Given the description of an element on the screen output the (x, y) to click on. 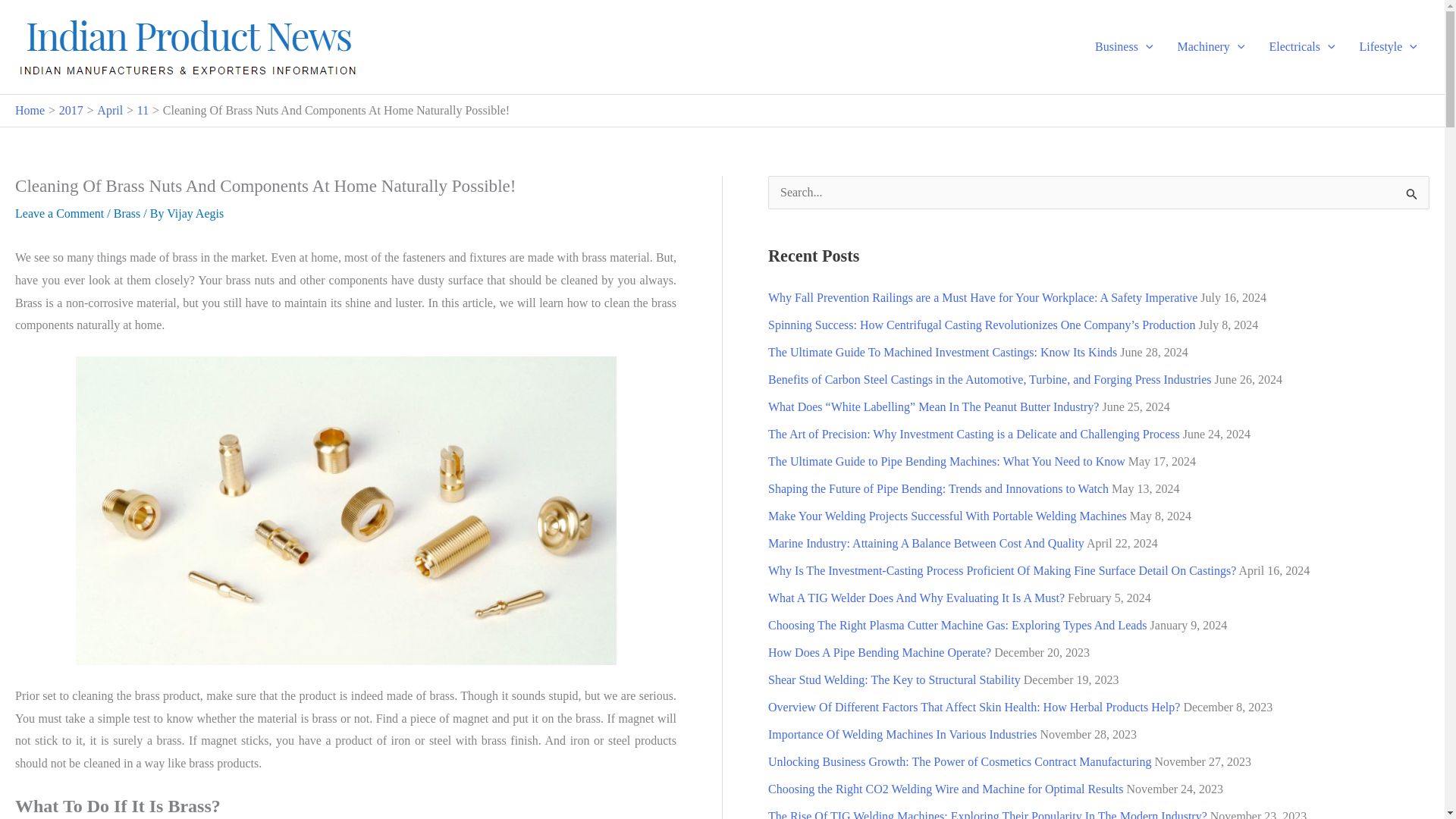
Lifestyle (1388, 46)
Business (1124, 46)
April (109, 110)
11 (142, 110)
Vijay Aegis (195, 213)
View all posts by Vijay Aegis (195, 213)
Machinery (1211, 46)
Search (1411, 197)
Search (1411, 197)
Electricals (1301, 46)
Brass (127, 213)
2017 (70, 110)
Home (29, 110)
Leave a Comment (58, 213)
